Given the description of an element on the screen output the (x, y) to click on. 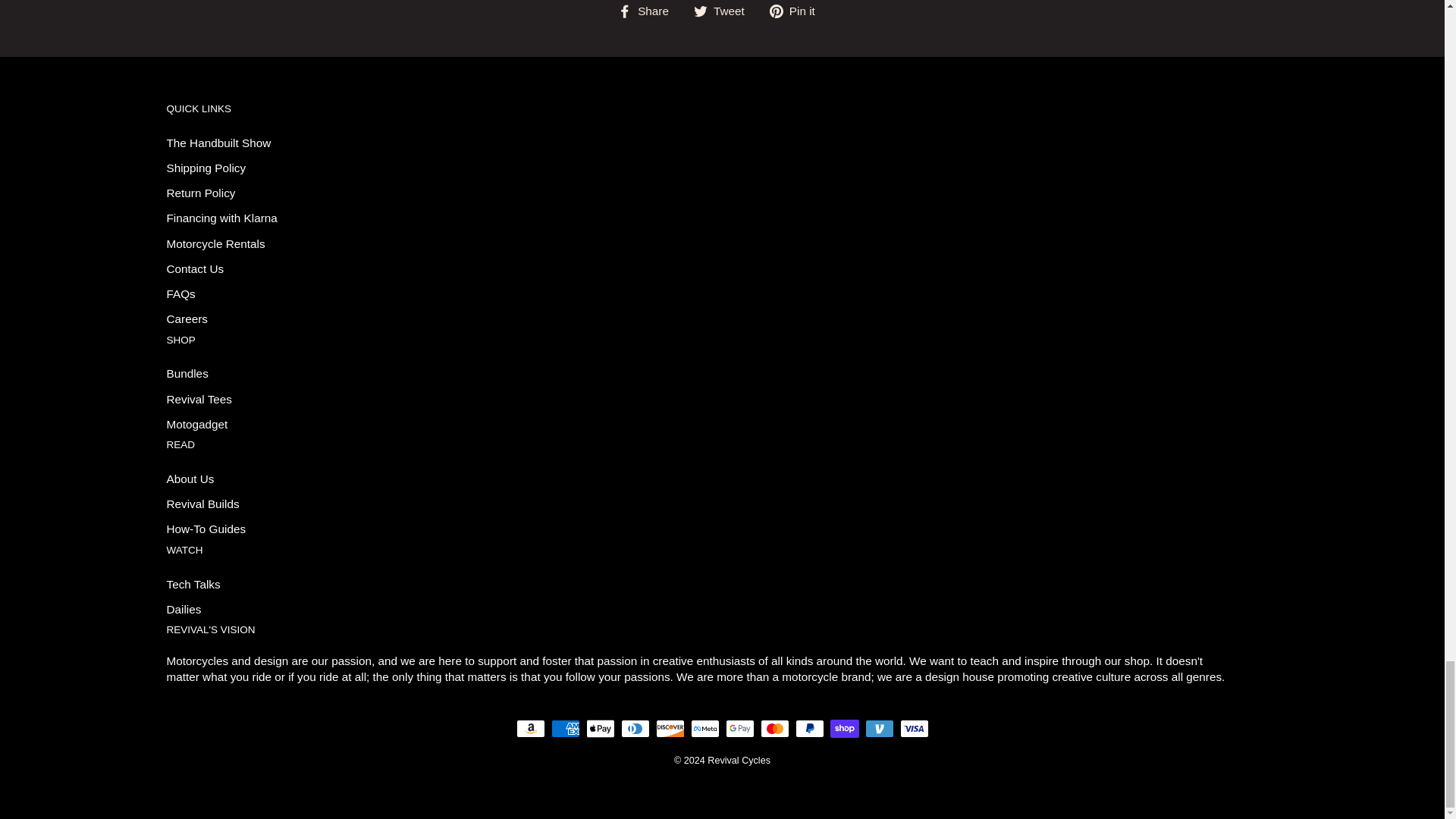
Diners Club (634, 728)
Mastercard (774, 728)
Pin on Pinterest (798, 10)
Tweet on Twitter (724, 10)
Amazon (529, 728)
PayPal (809, 728)
Apple Pay (599, 728)
Discover (669, 728)
Meta Pay (704, 728)
Share on Facebook (648, 10)
